Given the description of an element on the screen output the (x, y) to click on. 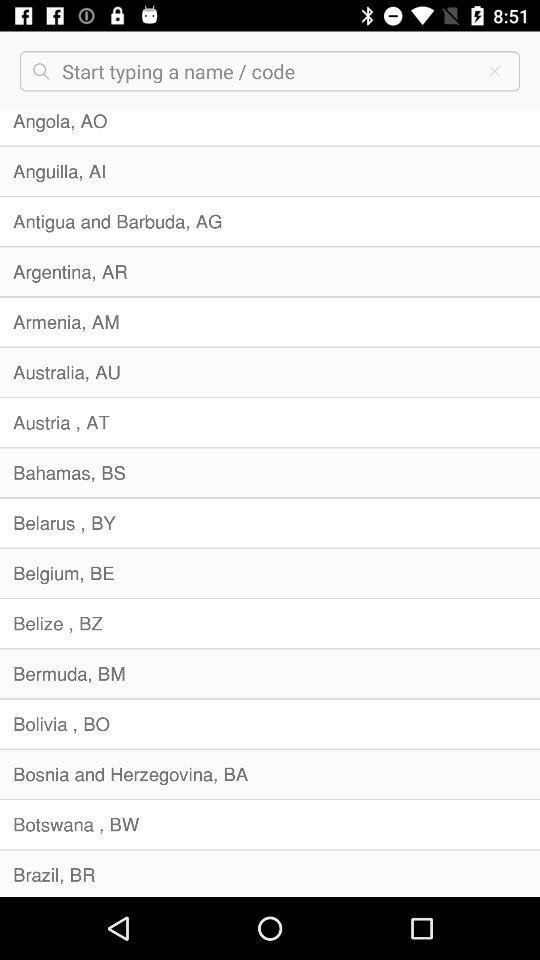
click anguilla, ai item (270, 171)
